Given the description of an element on the screen output the (x, y) to click on. 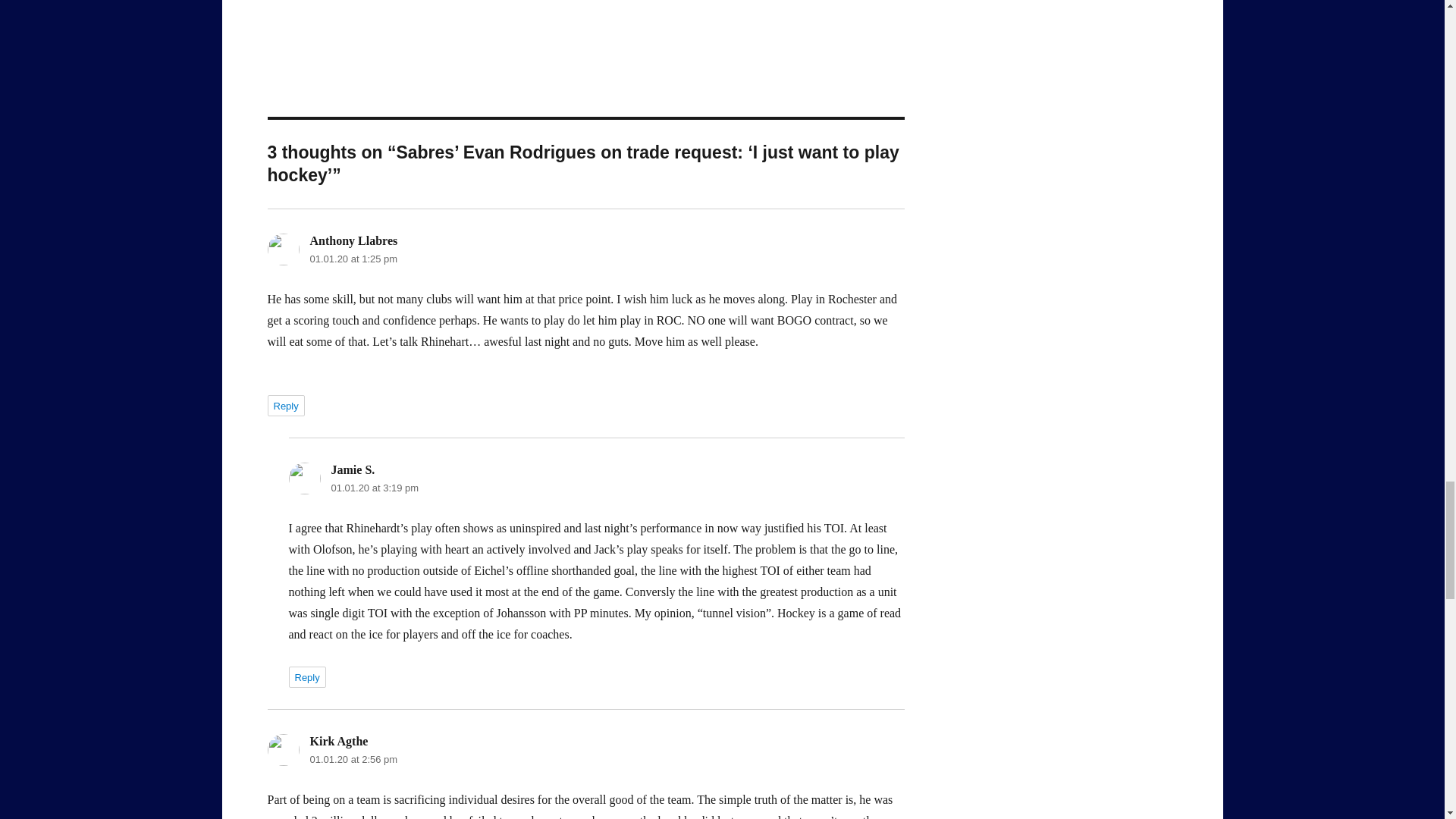
Reply (285, 405)
01.01.20 at 1:25 pm (352, 258)
01.01.20 at 3:19 pm (374, 487)
Reply (306, 676)
01.01.20 at 2:56 pm (352, 758)
